Given the description of an element on the screen output the (x, y) to click on. 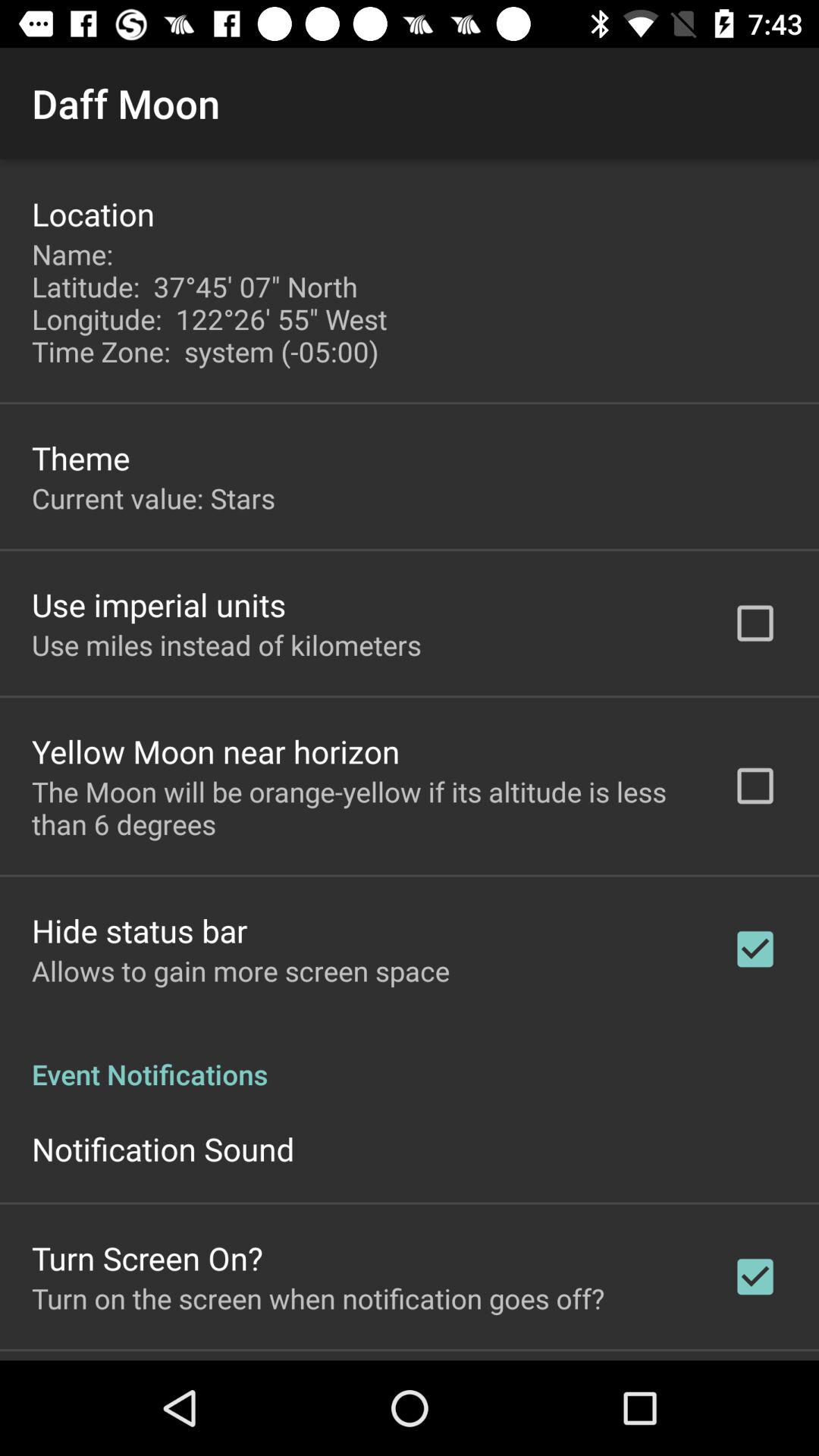
turn on item above the theme item (213, 302)
